Given the description of an element on the screen output the (x, y) to click on. 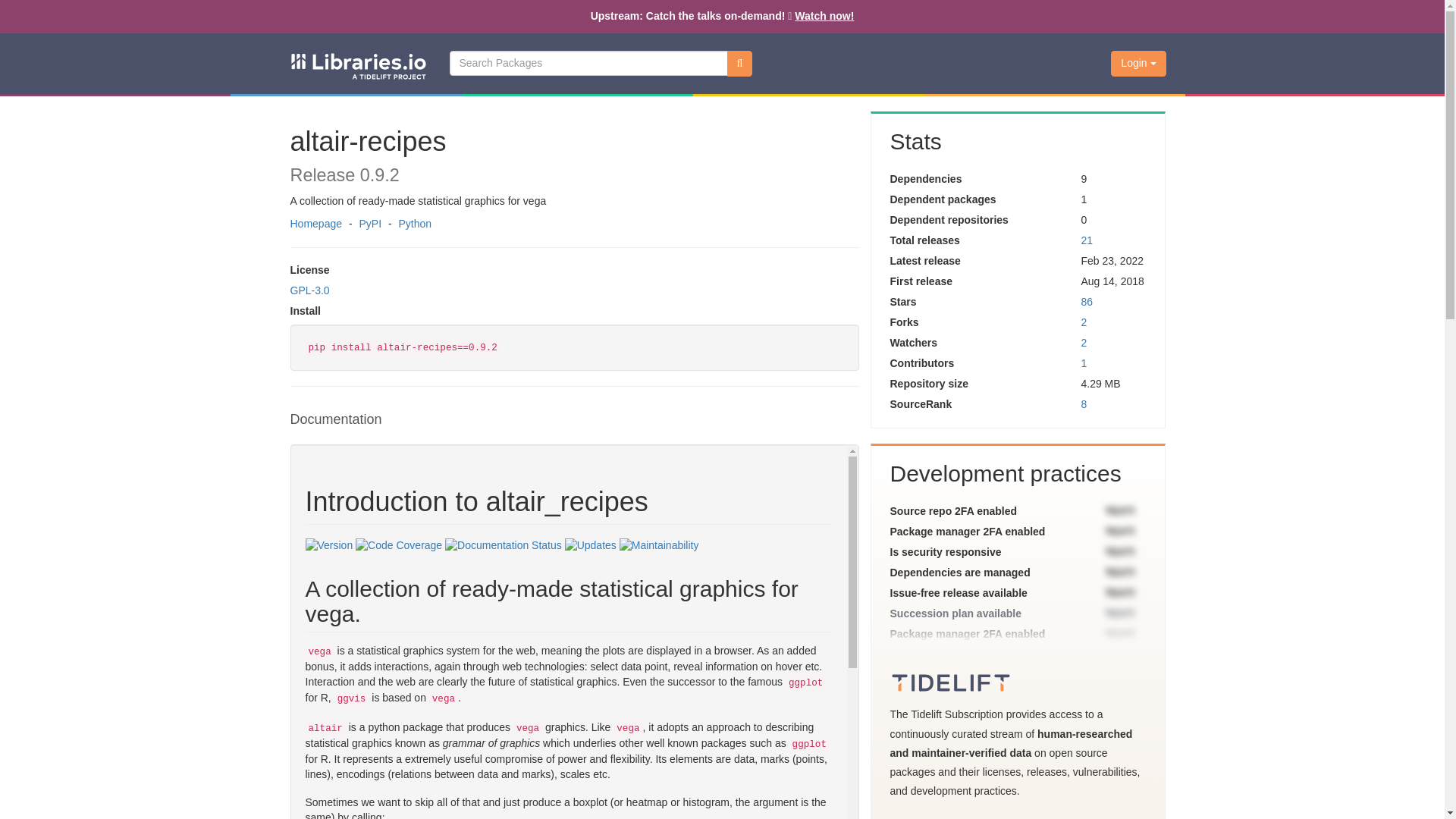
Homepage (315, 223)
Aug 14, 2018 (1111, 281)
GPL-3.0 (309, 290)
PyPI (369, 223)
Python (413, 223)
Feb 23, 2022 (1111, 260)
Watch now! (823, 15)
Login (1138, 63)
